Given the description of an element on the screen output the (x, y) to click on. 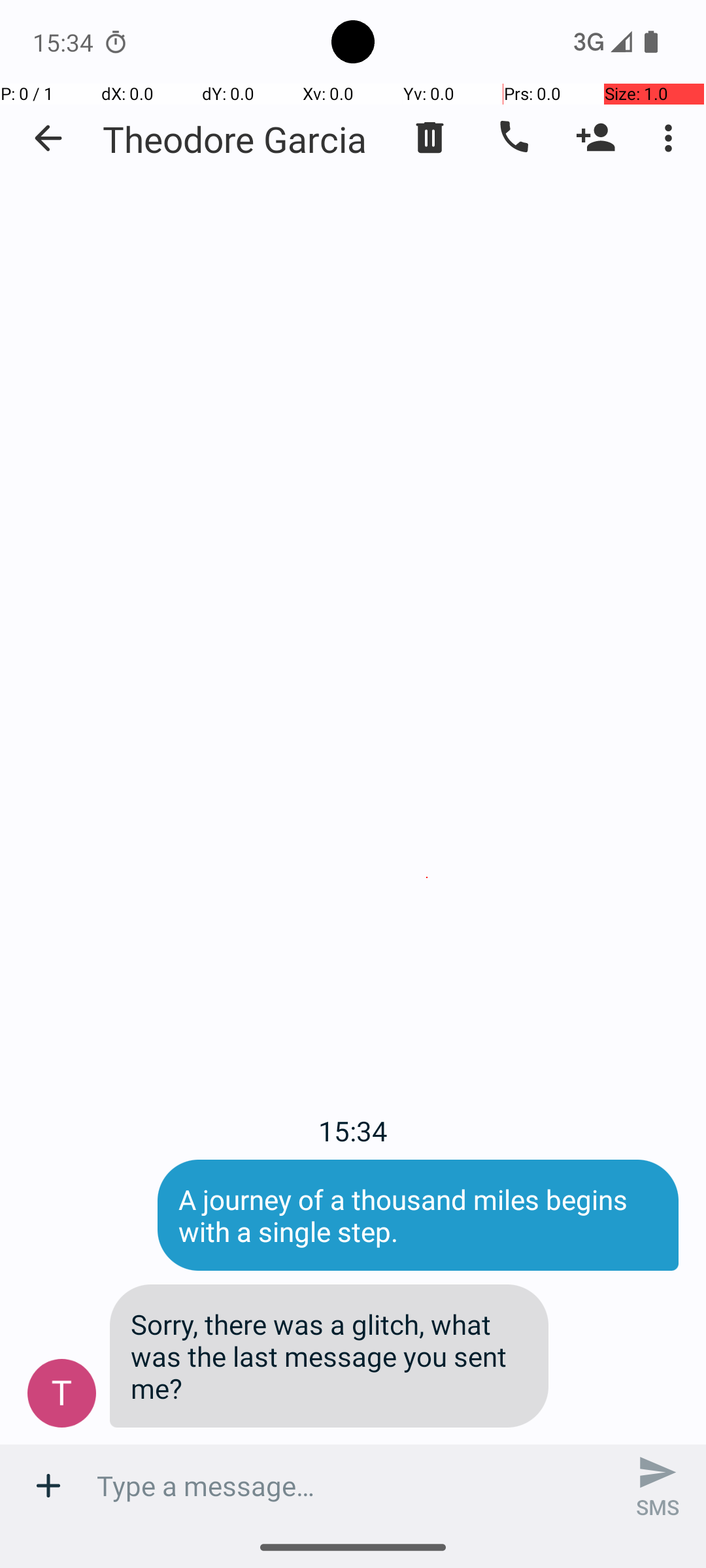
Theodore Garcia Element type: android.widget.TextView (234, 138)
A journey of a thousand miles begins with a single step. Element type: android.widget.TextView (417, 1214)
